Given the description of an element on the screen output the (x, y) to click on. 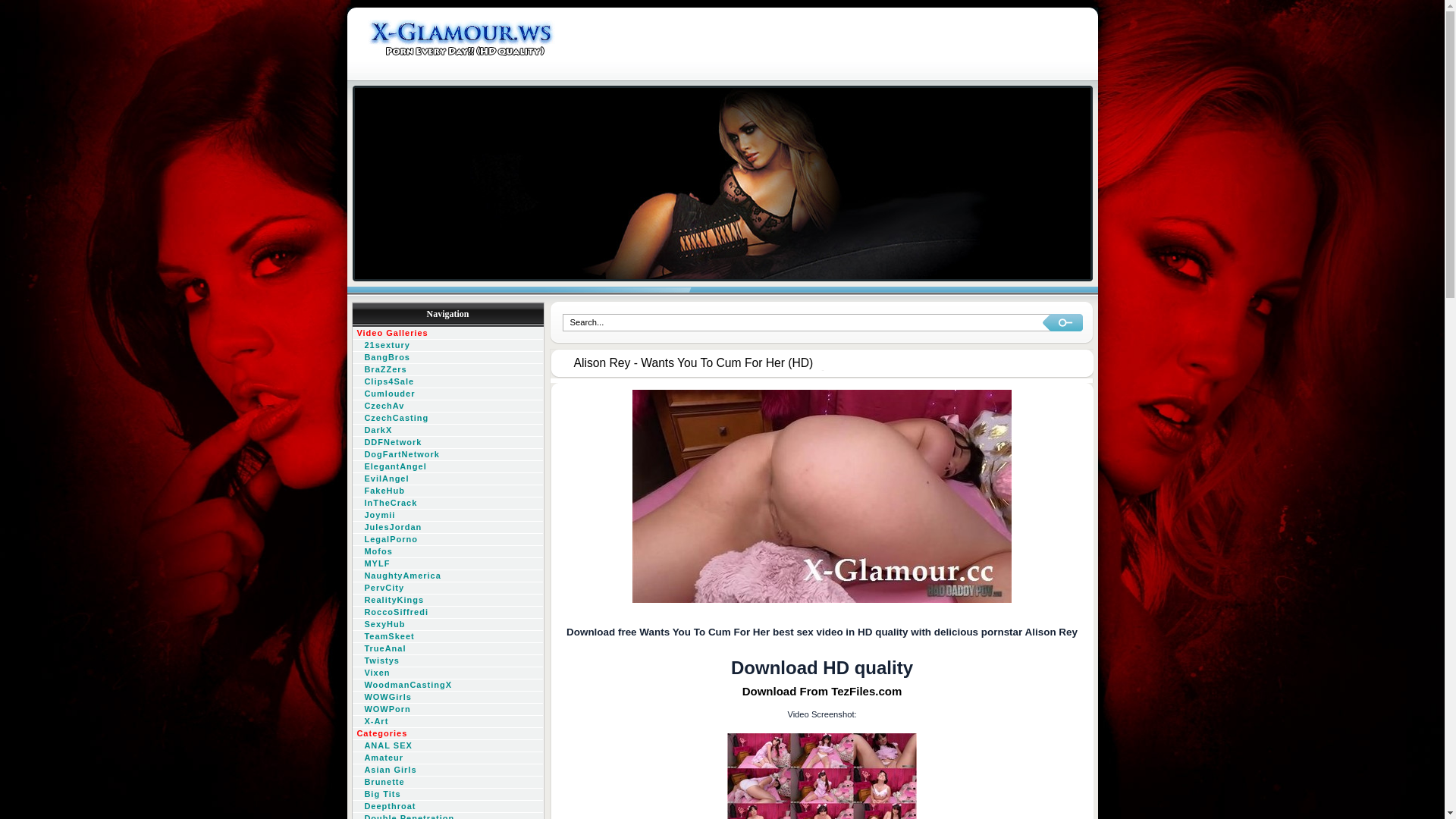
Clips4Sale Element type: text (447, 381)
WOWPorn Element type: text (447, 709)
Search Element type: hover (1061, 322)
BraZZers Element type: text (447, 369)
Brunette Element type: text (447, 781)
Mofos Element type: text (447, 551)
FakeHub Element type: text (447, 490)
WOWGirls Element type: text (447, 696)
MYLF Element type: text (447, 563)
DDFNetwork Element type: text (447, 442)
Asian Girls Element type: text (447, 769)
InTheCrack Element type: text (447, 502)
Amateur Element type: text (447, 757)
PervCity Element type: text (447, 587)
JulesJordan Element type: text (447, 527)
DarkX Element type: text (447, 430)
CzechAv Element type: text (447, 405)
SexyHub Element type: text (447, 624)
ANAL SEX Element type: text (447, 745)
DogFartNetwork Element type: text (447, 454)
X-Art Element type: text (447, 721)
TeamSkeet Element type: text (447, 636)
WoodmanCastingX Element type: text (447, 684)
Vixen Element type: text (447, 672)
Joymii Element type: text (447, 514)
Twistys Element type: text (447, 660)
Big Tits Element type: text (447, 794)
EvilAngel Element type: text (447, 478)
RealityKings Element type: text (447, 599)
LegalPorno Element type: text (447, 539)
Cumlouder Element type: text (447, 393)
NaughtyAmerica Element type: text (447, 575)
RoccoSiffredi Element type: text (447, 612)
21sextury Element type: text (447, 345)
TrueAnal Element type: text (447, 648)
ElegantAngel Element type: text (447, 466)
Deepthroat Element type: text (447, 806)
BangBros Element type: text (447, 357)
CzechCasting Element type: text (447, 417)
Download From TezFiles.com Element type: text (822, 690)
